Given the description of an element on the screen output the (x, y) to click on. 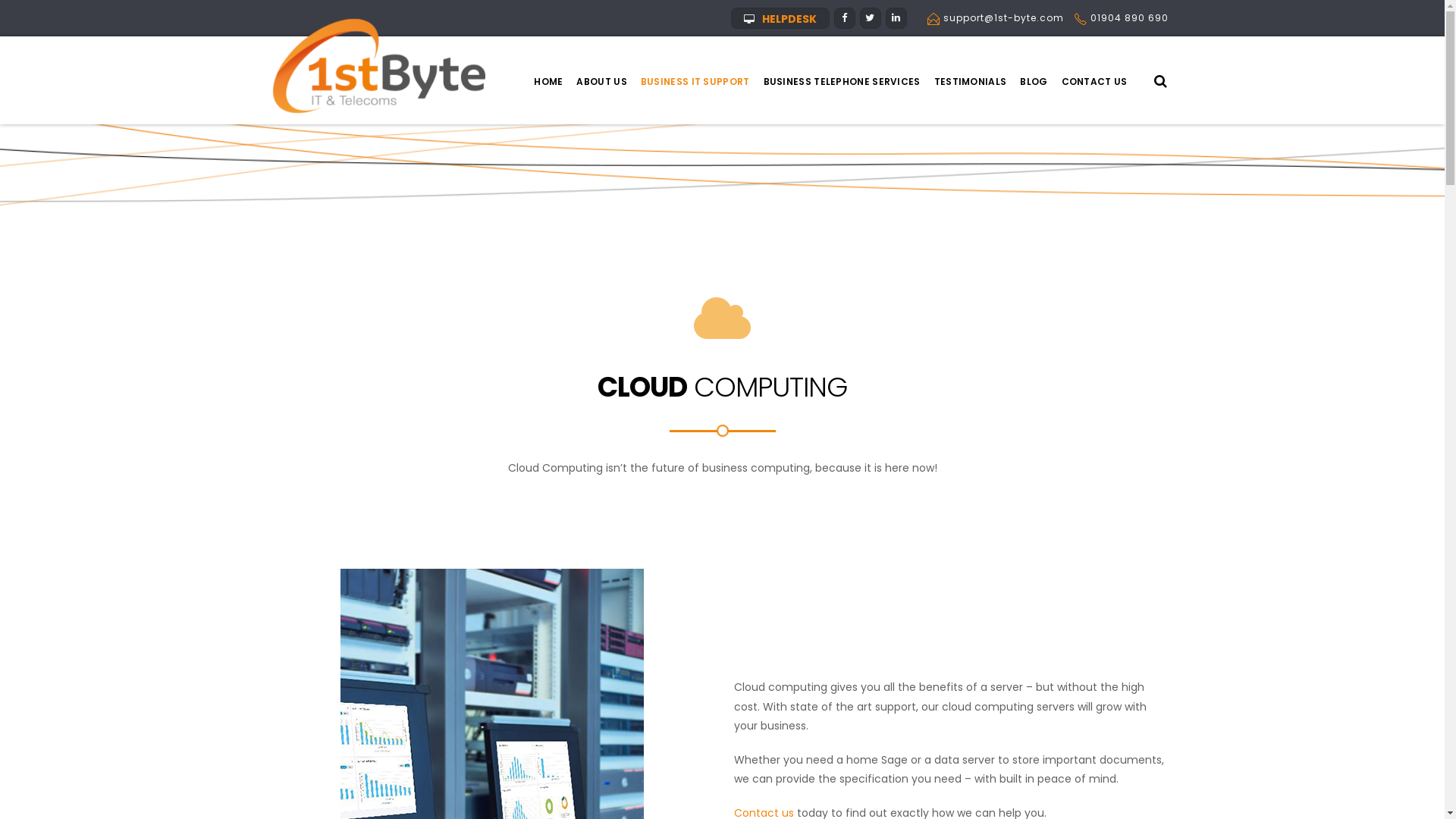
ABOUT US Element type: text (601, 81)
HOME Element type: text (548, 81)
HELPDESK Element type: text (780, 17)
BUSINESS TELEPHONE SERVICES Element type: text (841, 81)
BUSINESS IT SUPPORT Element type: text (694, 81)
BLOG Element type: text (1033, 81)
TESTIMONIALS Element type: text (970, 81)
CONTACT US Element type: text (1093, 81)
